Given the description of an element on the screen output the (x, y) to click on. 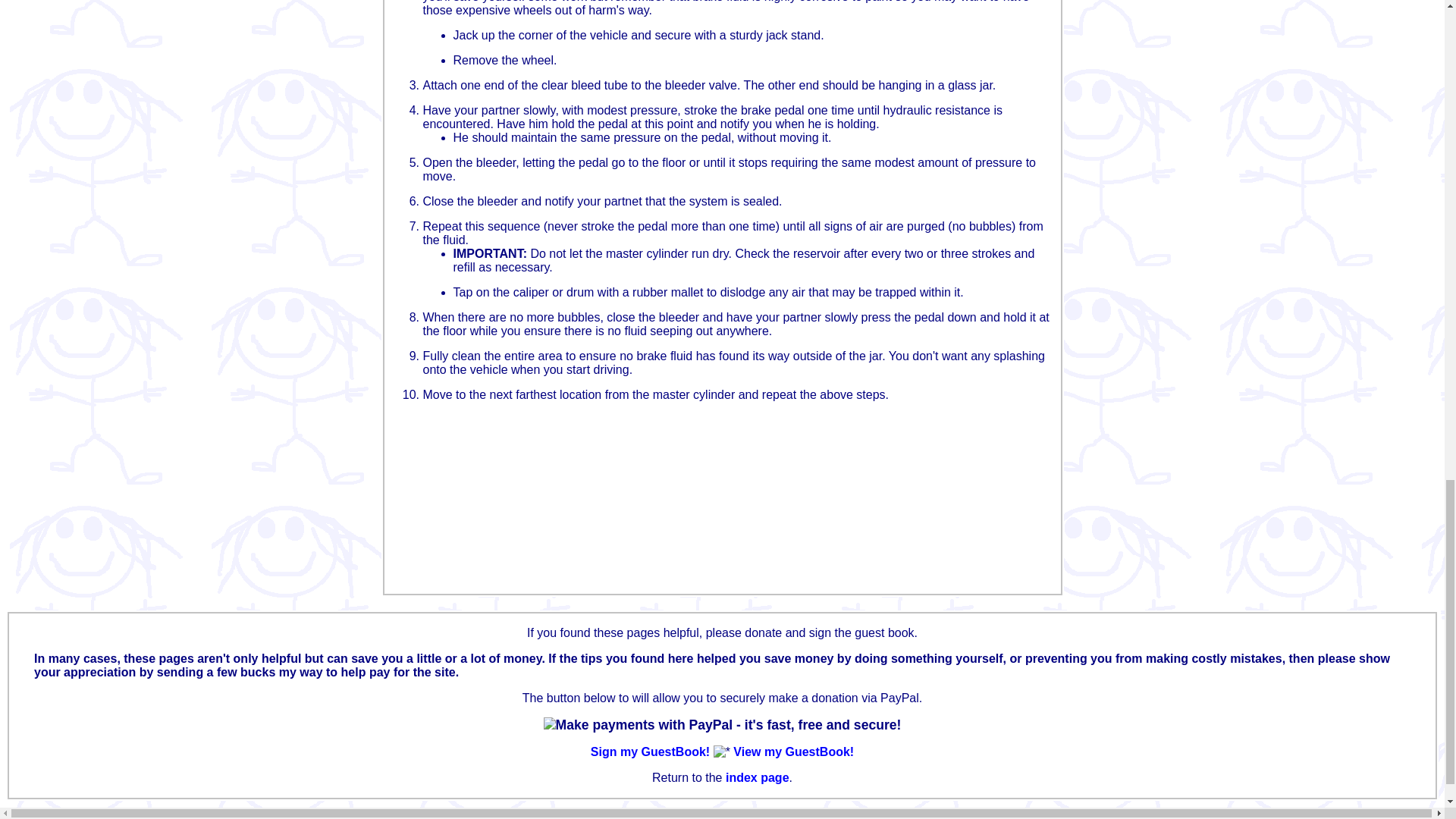
View my GuestBook! (793, 751)
index page (757, 777)
Sign my GuestBook! (650, 751)
Advertisement (668, 546)
